Given the description of an element on the screen output the (x, y) to click on. 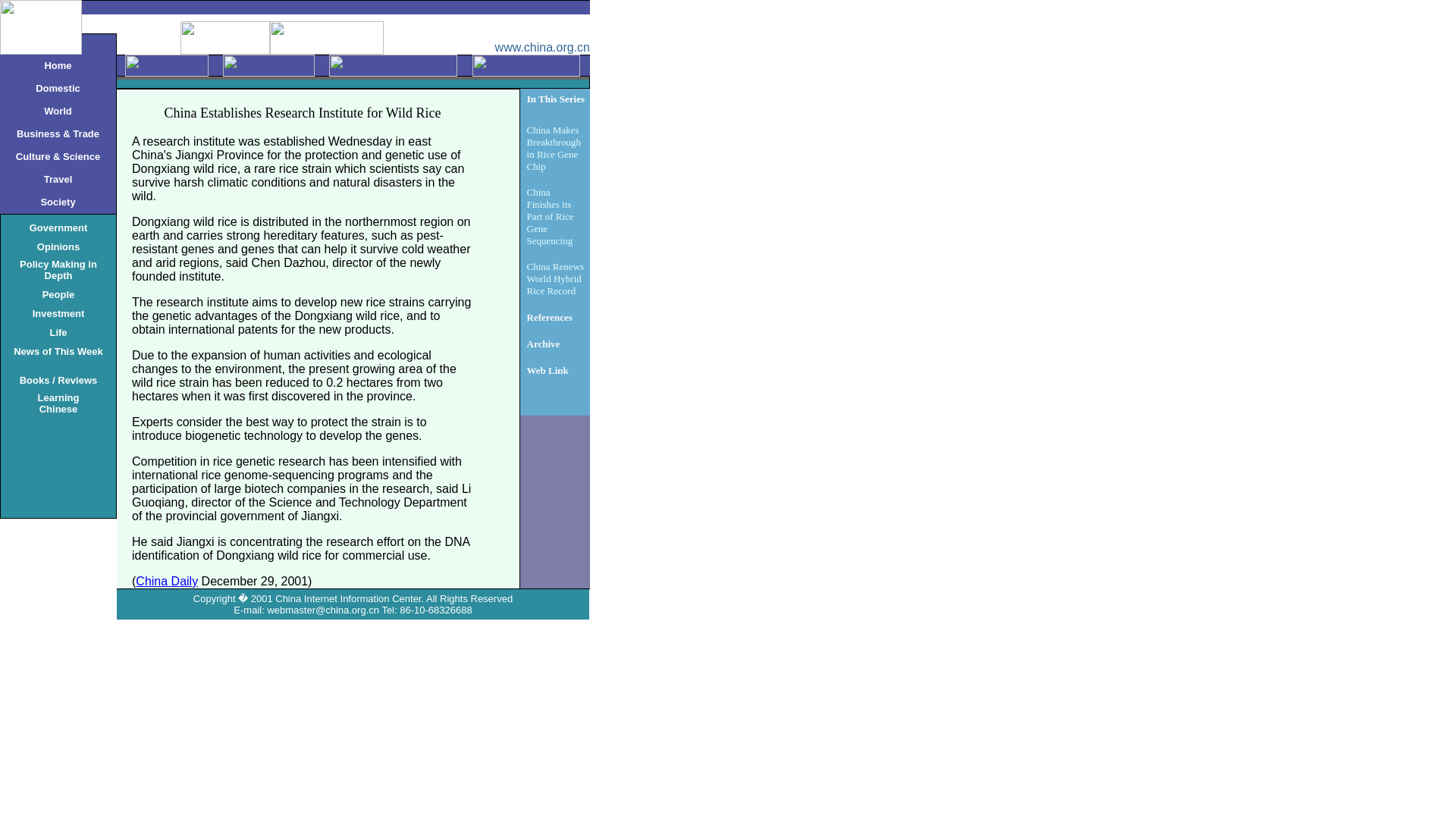
World (57, 110)
China Makes Breakthrough in Rice Gene Chip (553, 146)
Society (57, 201)
Opinions (58, 245)
Travel (57, 178)
China Daily (166, 581)
Life (57, 331)
Home (57, 64)
People (58, 293)
Policy Making in Depth (58, 269)
Government (58, 226)
News of This Week (58, 350)
Investment (58, 402)
Domestic (58, 312)
